Given the description of an element on the screen output the (x, y) to click on. 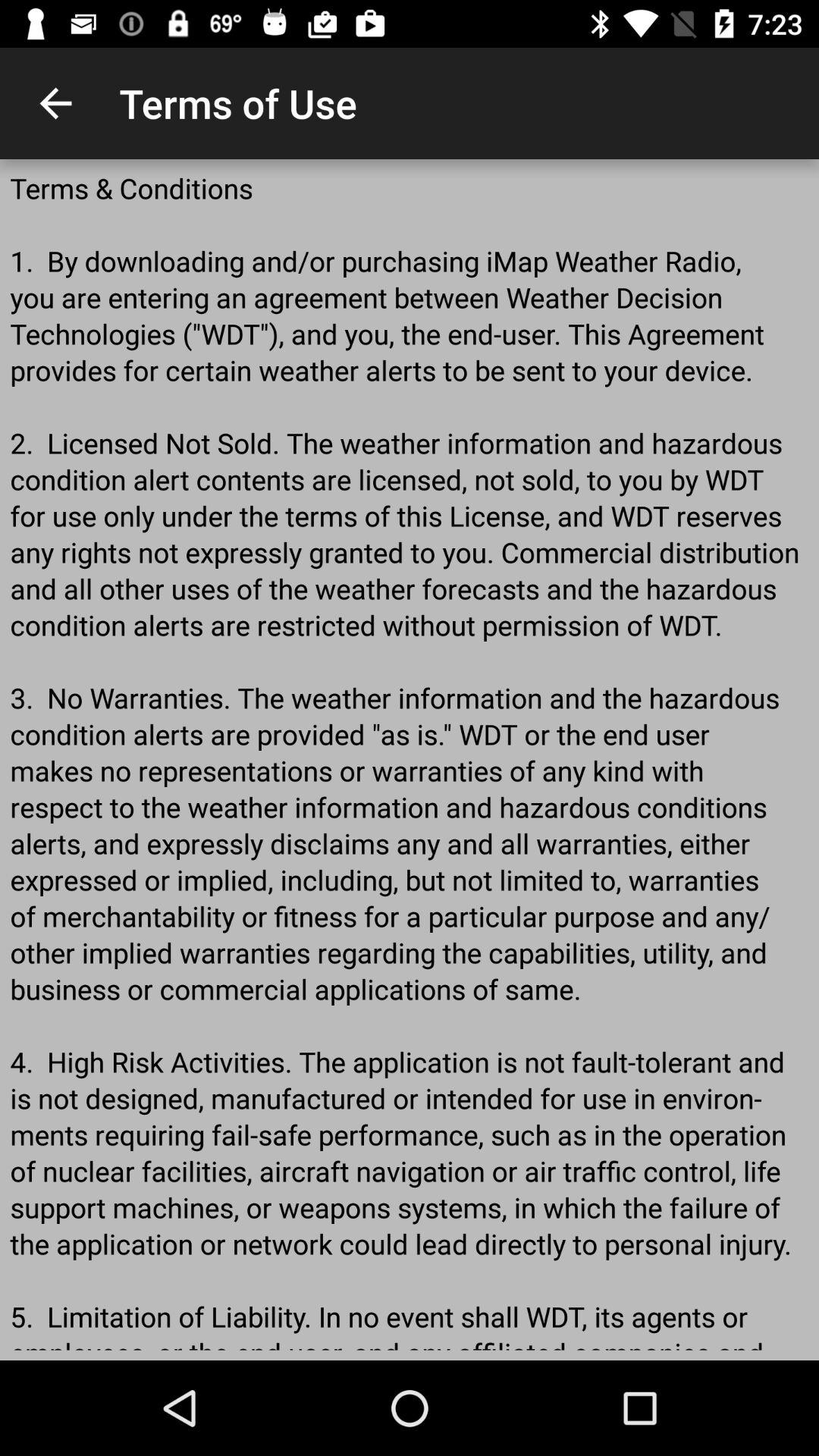
press the icon at the center (409, 759)
